Given the description of an element on the screen output the (x, y) to click on. 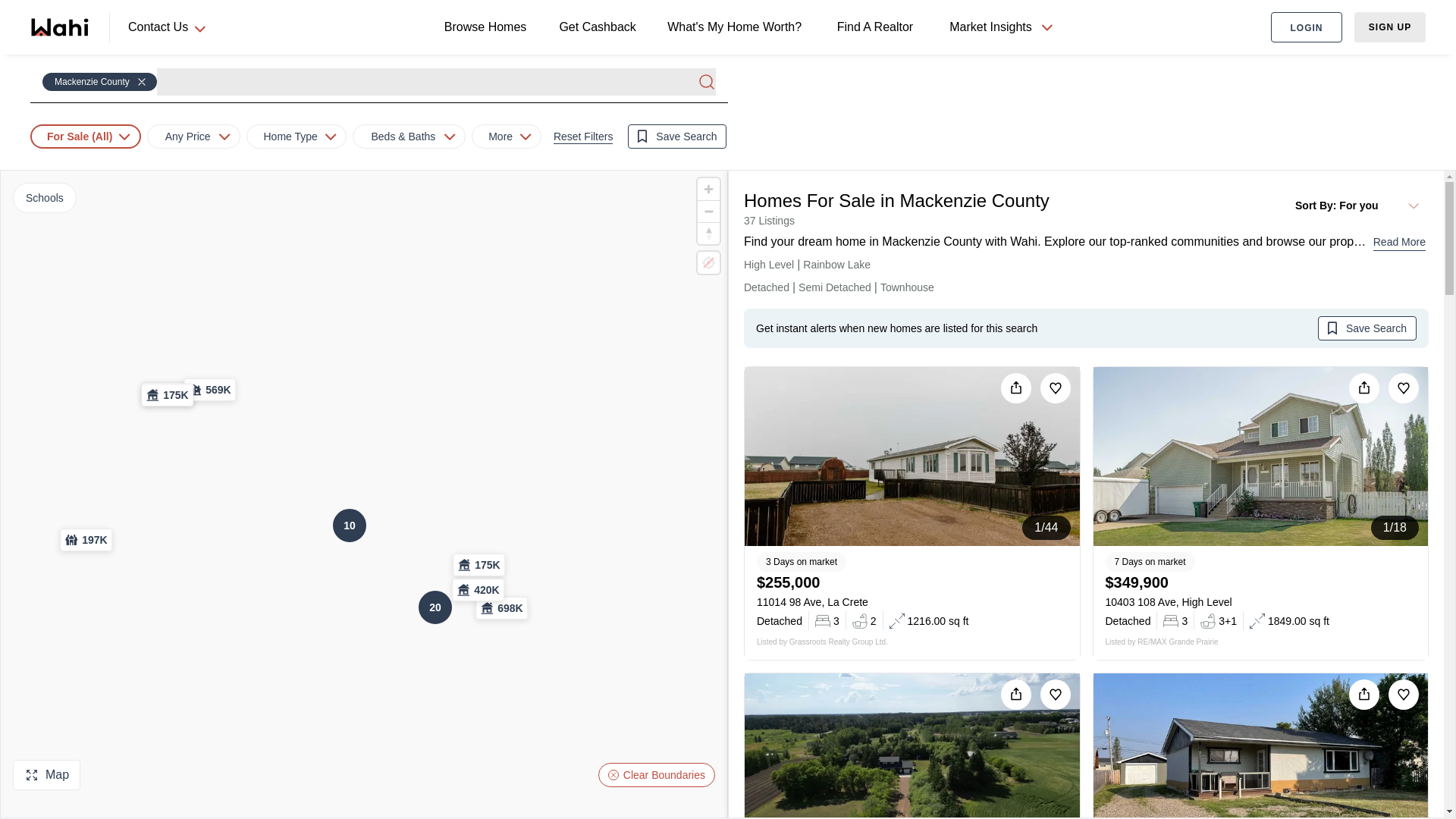
What's My Home Worth? (737, 26)
Any Price (193, 136)
Find A Realtor (878, 27)
Home Type (290, 136)
Zoom out (708, 210)
Any Price (187, 136)
SIGN UP (1389, 27)
Market Insights (1000, 27)
Browse Homes (488, 27)
Get Cashback (599, 27)
Find A Realtor (877, 26)
Zoom in (708, 188)
Market Insights (990, 26)
More (499, 136)
LOGIN (1306, 27)
